Given the description of an element on the screen output the (x, y) to click on. 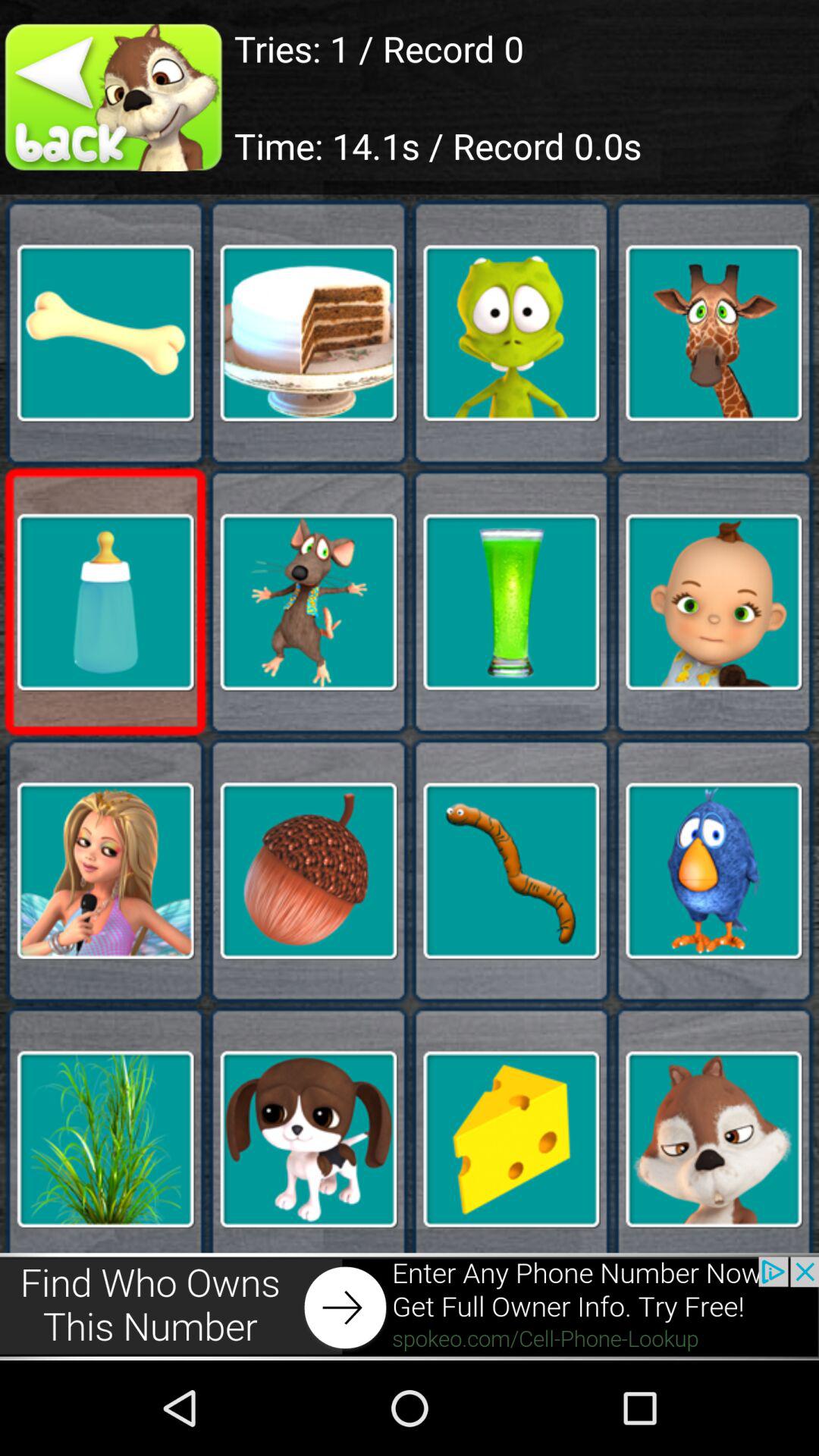
go to previous (117, 97)
